Given the description of an element on the screen output the (x, y) to click on. 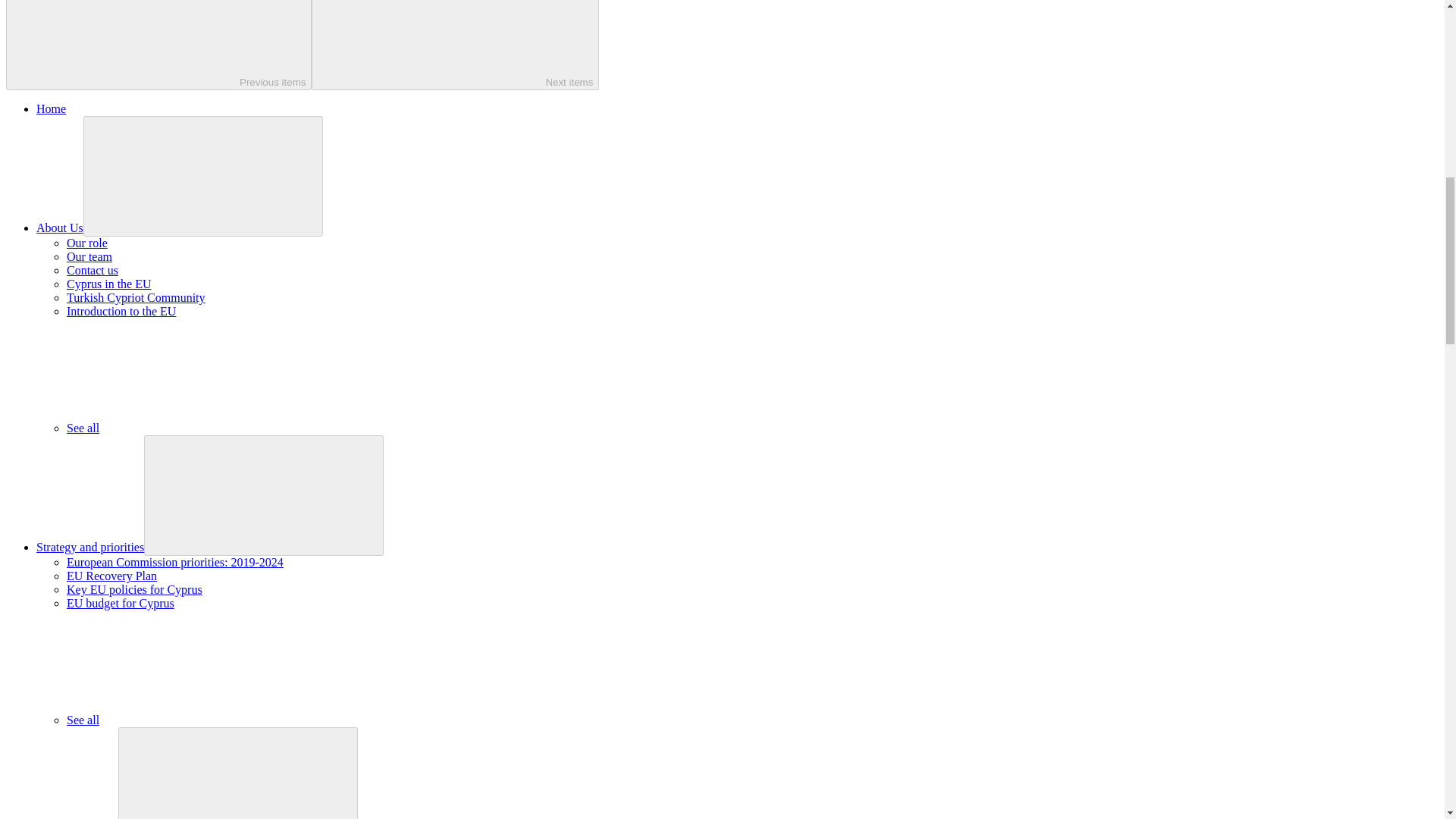
Turkish Cypriot Community (135, 297)
Key EU policies for Cyprus (134, 589)
Cyprus in the EU (108, 283)
EU Recovery Plan (111, 575)
Our team (89, 256)
Next items (454, 45)
Strategy and priorities (90, 546)
Contact us (91, 269)
Previous items (158, 45)
See all (196, 719)
